Given the description of an element on the screen output the (x, y) to click on. 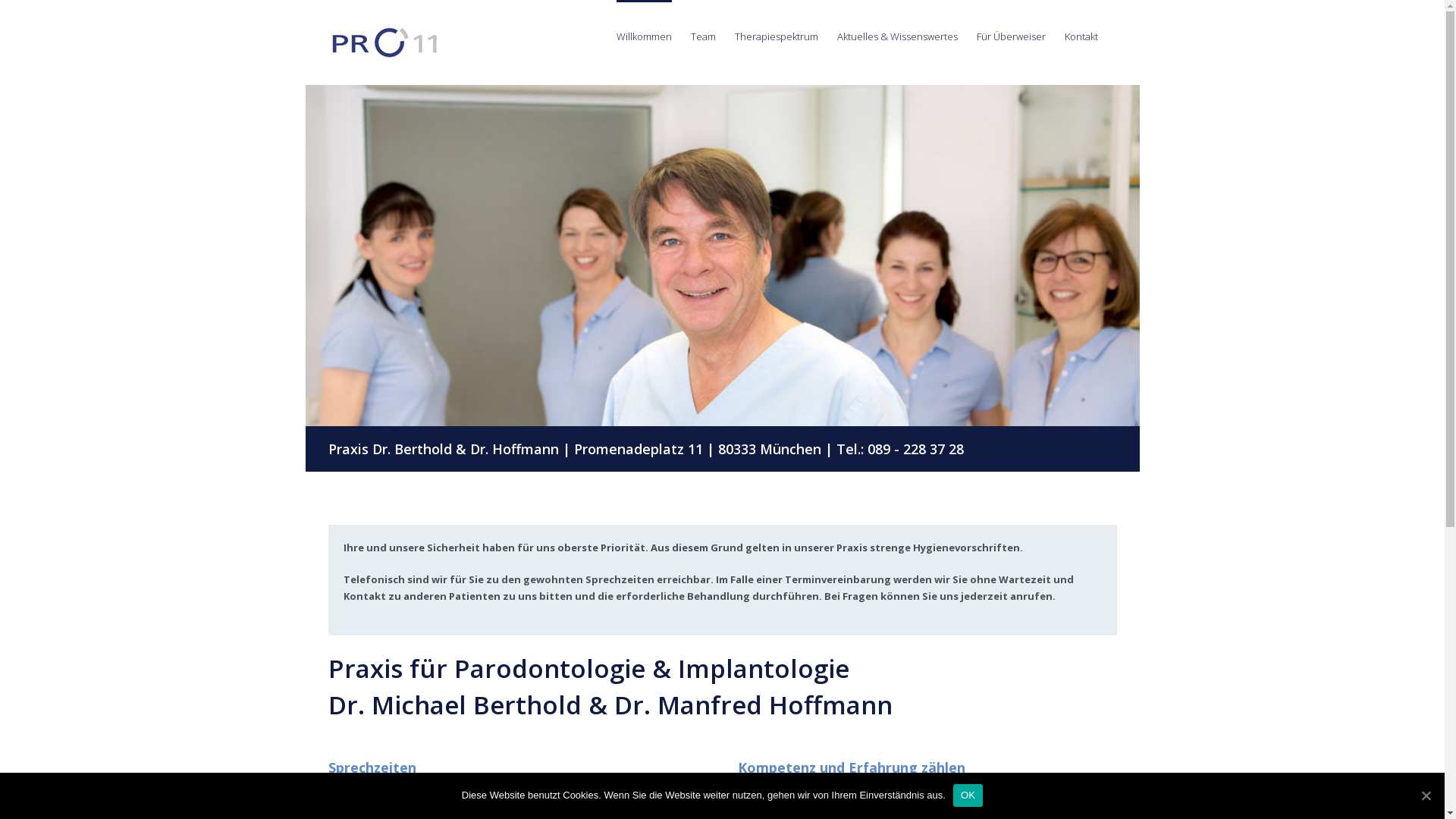
Team Element type: text (702, 35)
OK Element type: text (967, 795)
Willkommen Element type: text (643, 35)
Therapiespektrum Element type: text (775, 35)
Kontakt Element type: text (1081, 35)
Aktuelles & Wissenswertes Element type: text (897, 35)
